Given the description of an element on the screen output the (x, y) to click on. 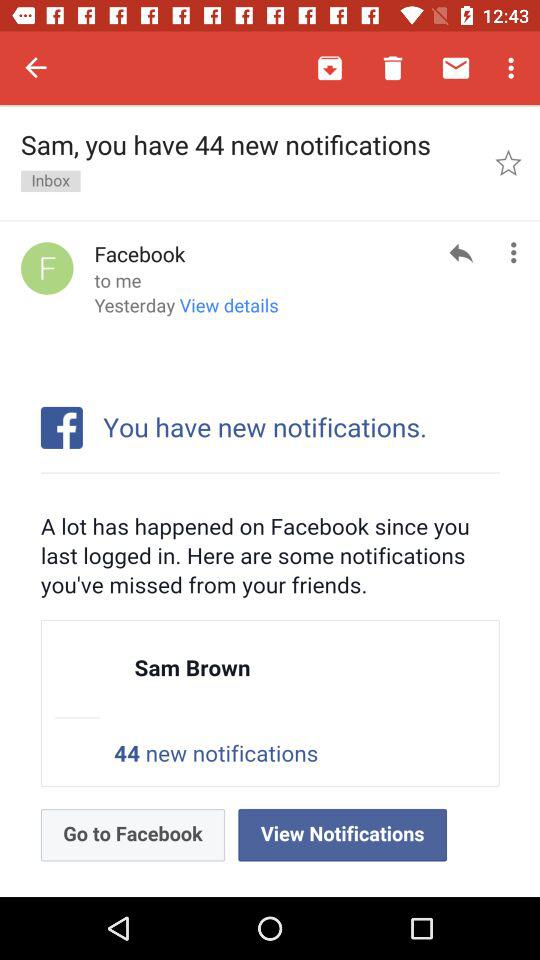
choose the icon next to facebook (47, 268)
